Given the description of an element on the screen output the (x, y) to click on. 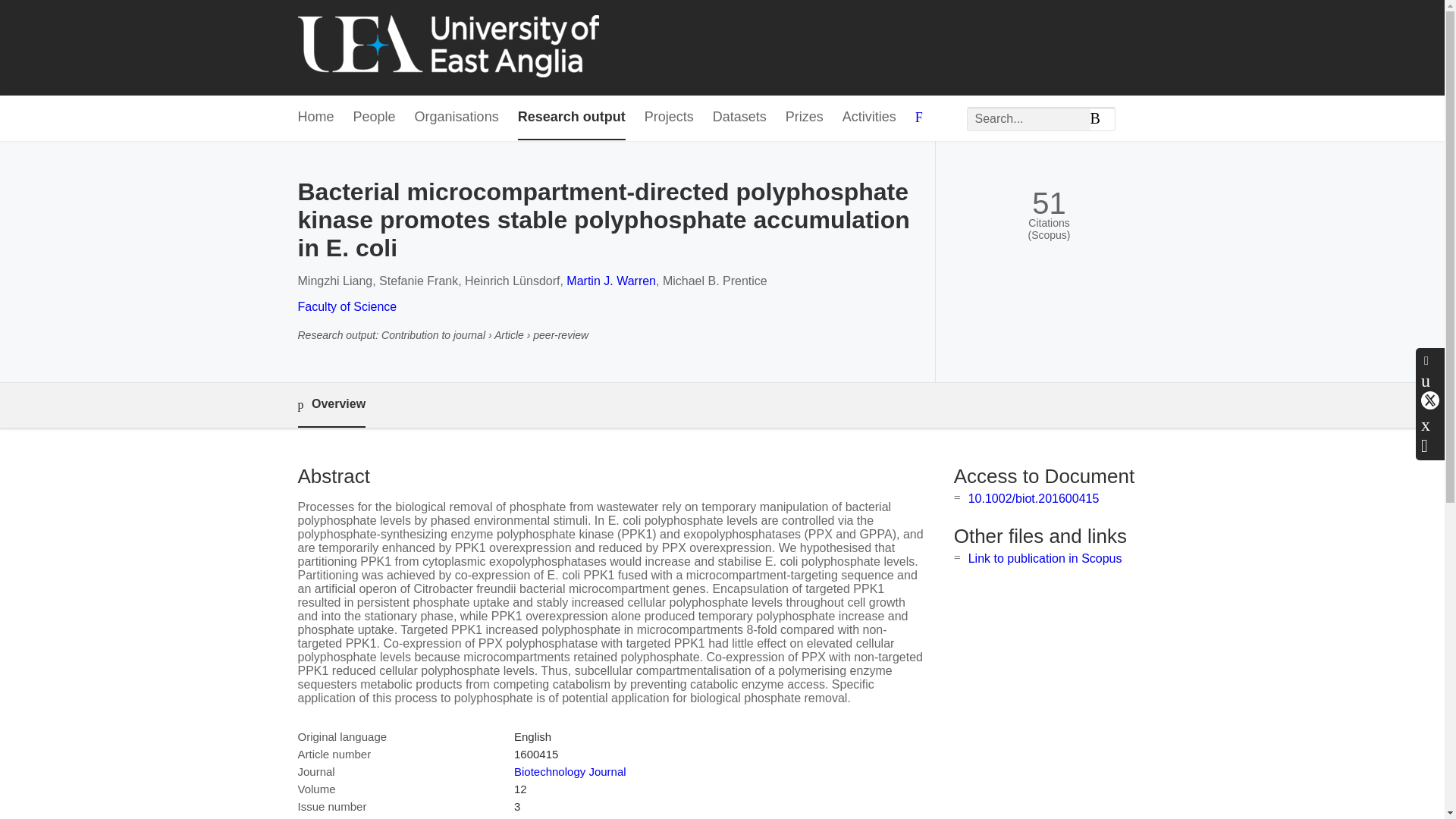
Activities (869, 117)
Projects (669, 117)
Datasets (740, 117)
Faculty of Science (346, 306)
Biotechnology Journal (569, 771)
Overview (331, 405)
Research output (572, 117)
People (374, 117)
Organisations (456, 117)
University of East Anglia Home (447, 47)
Link to publication in Scopus (1045, 558)
Martin J. Warren (611, 280)
